Given the description of an element on the screen output the (x, y) to click on. 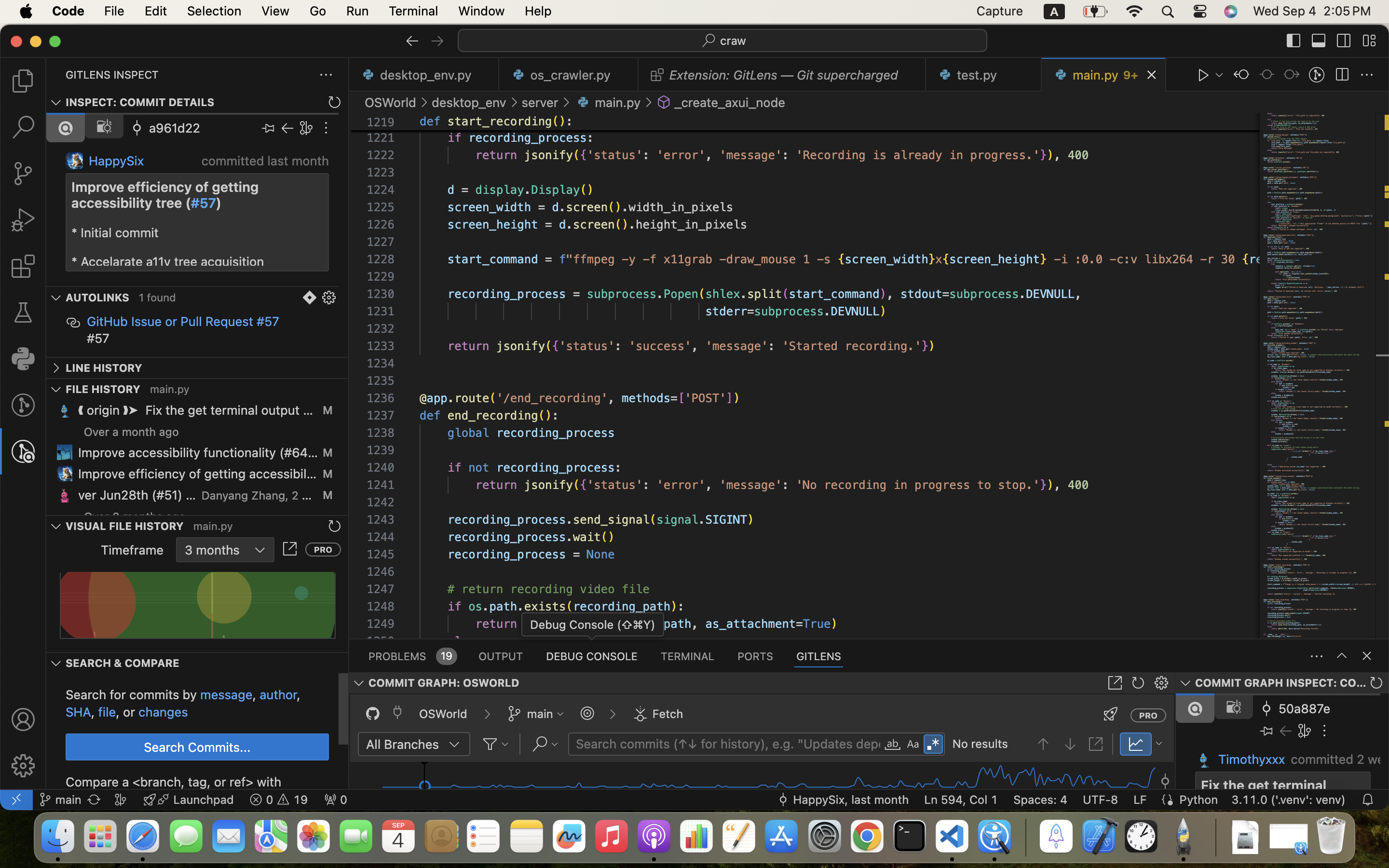
 Element type: AXStaticText (328, 297)
 Element type: AXButton (1369, 40)
 Element type: AXButton (1366, 655)
0 desktop_env.py   Element type: AXRadioButton (424, 74)
 Element type: AXCheckBox (1293, 40)
